Given the description of an element on the screen output the (x, y) to click on. 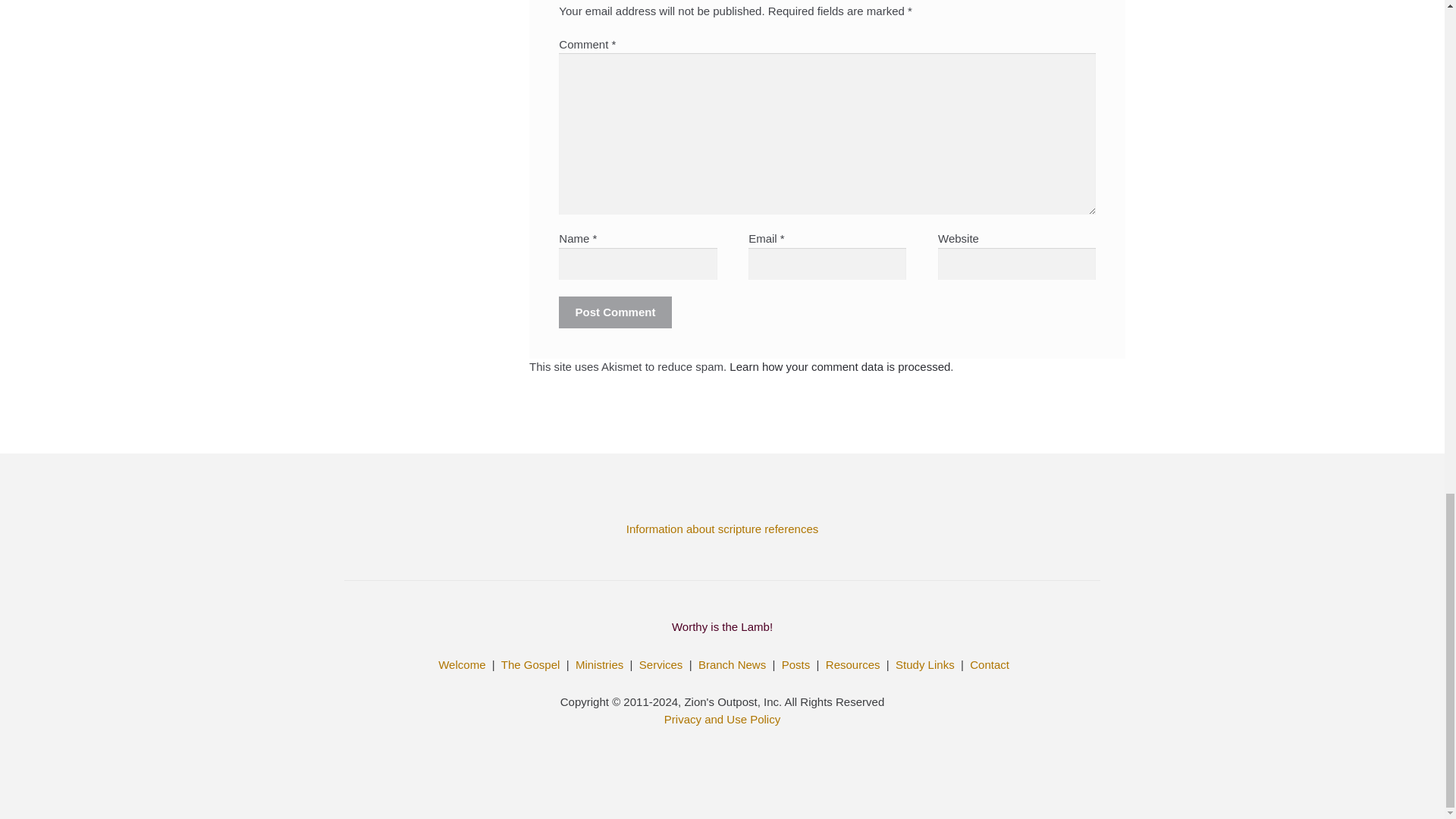
Welcome (461, 664)
Contact (989, 664)
Ministries (599, 664)
Resources (852, 664)
Posts (795, 664)
Services (660, 664)
The Gospel (530, 664)
Post Comment (615, 312)
Branch News (731, 664)
Study Links (925, 664)
